Given the description of an element on the screen output the (x, y) to click on. 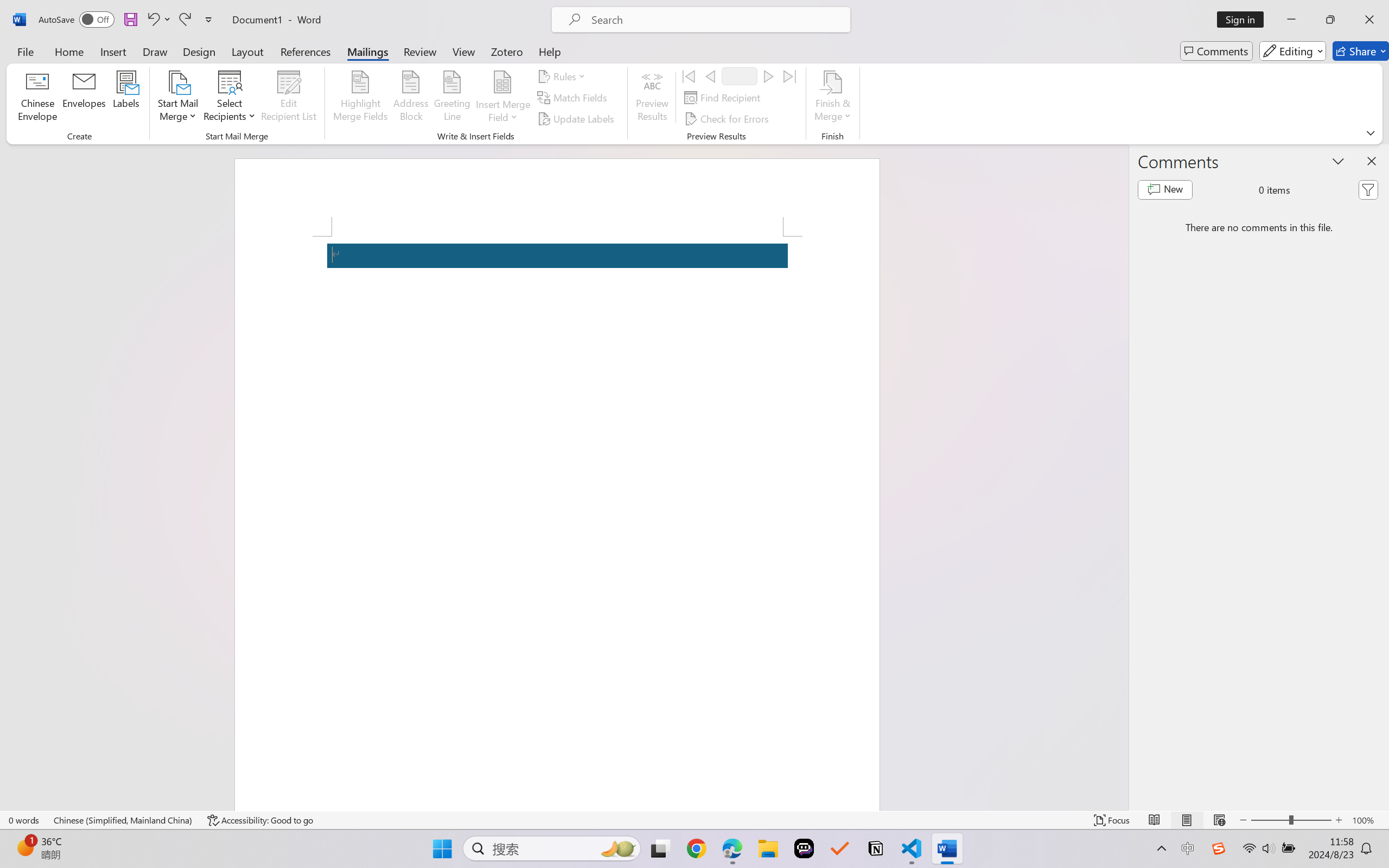
First (688, 75)
Insert Merge Field (502, 81)
Match Fields... (573, 97)
Next (768, 75)
Redo Apply Quick Style (184, 19)
Select Recipients (229, 97)
Undo Apply Quick Style Set (158, 19)
Preview Results (652, 97)
Last (790, 75)
